Given the description of an element on the screen output the (x, y) to click on. 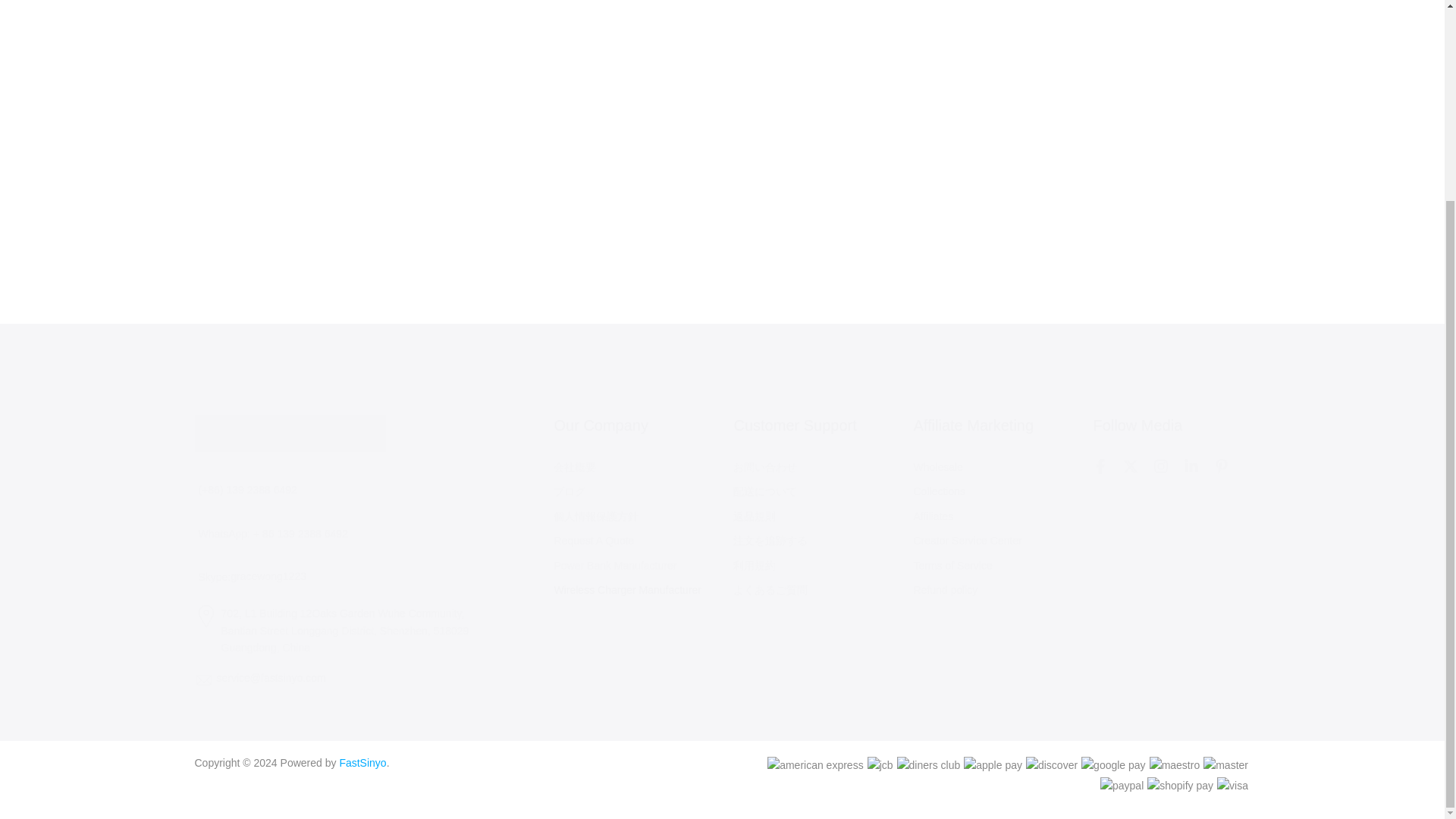
Wholesale (937, 467)
Request A Quote (593, 540)
Power Bank Manufacturer (615, 566)
gracewong1223 (267, 576)
Collections (937, 491)
Skype: (211, 577)
Wireless Charger Manufacturer (627, 590)
